Given the description of an element on the screen output the (x, y) to click on. 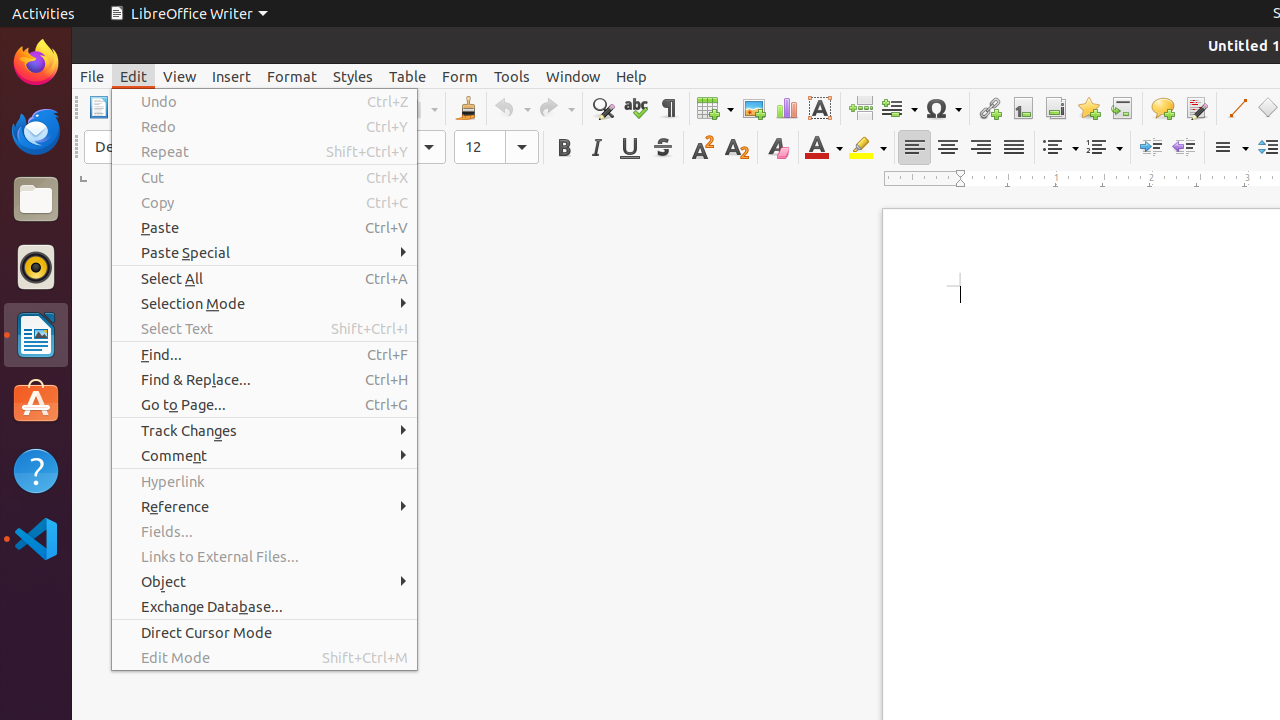
Formatting Marks Element type: toggle-button (668, 108)
Paste Special Element type: menu (264, 252)
Window Element type: menu (573, 76)
Insert Element type: menu (231, 76)
Track Changes Element type: menu (264, 430)
